Given the description of an element on the screen output the (x, y) to click on. 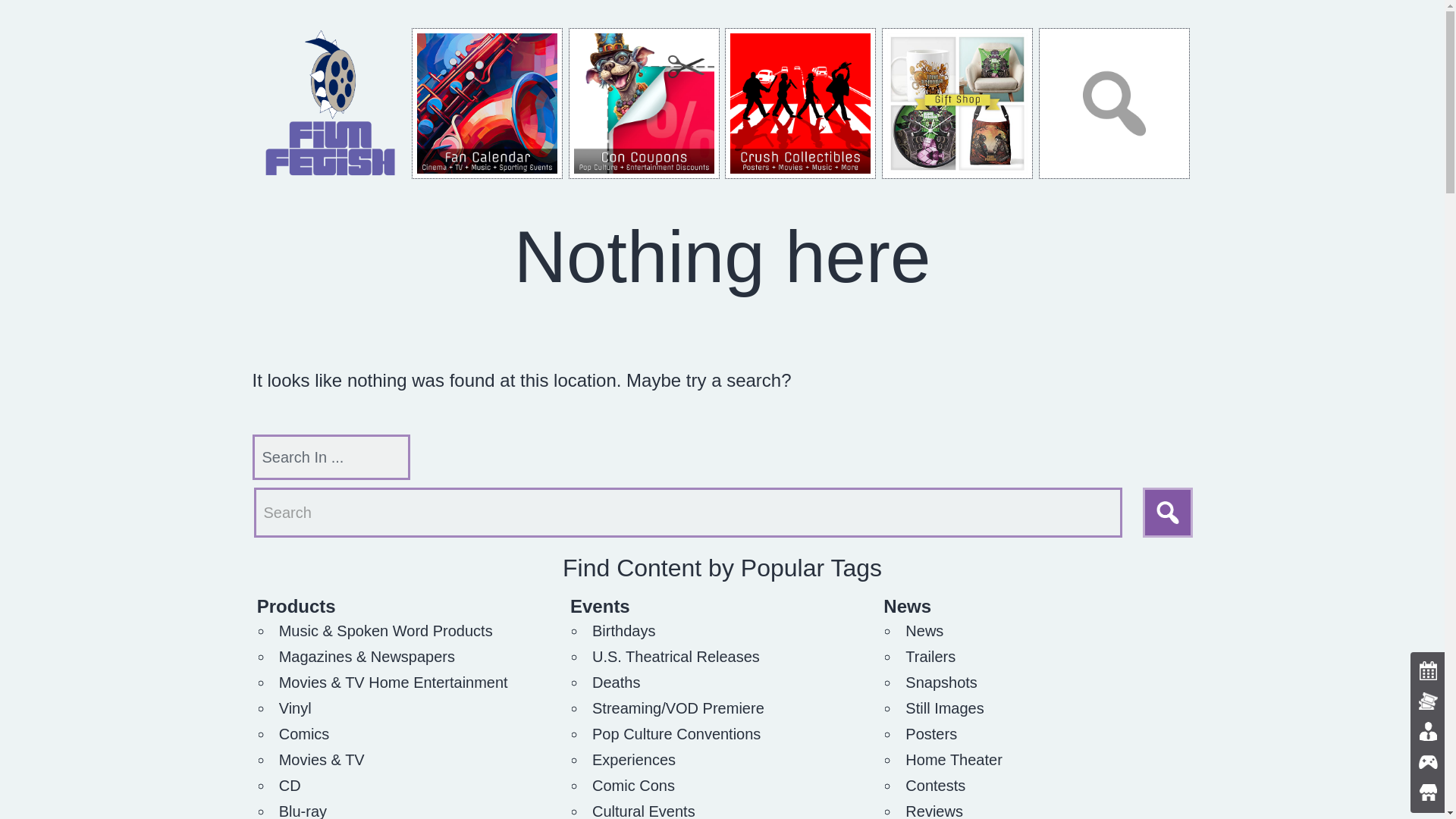
Experiences (633, 759)
Crush Collectibles (800, 103)
Con Coupons (644, 103)
Birthdays (623, 630)
Trailers (930, 656)
Snapshots (940, 682)
Comic Cons (633, 785)
Film Fetish Official Shop (957, 103)
Cultural Events (643, 811)
Film Fetish Home (330, 103)
